Given the description of an element on the screen output the (x, y) to click on. 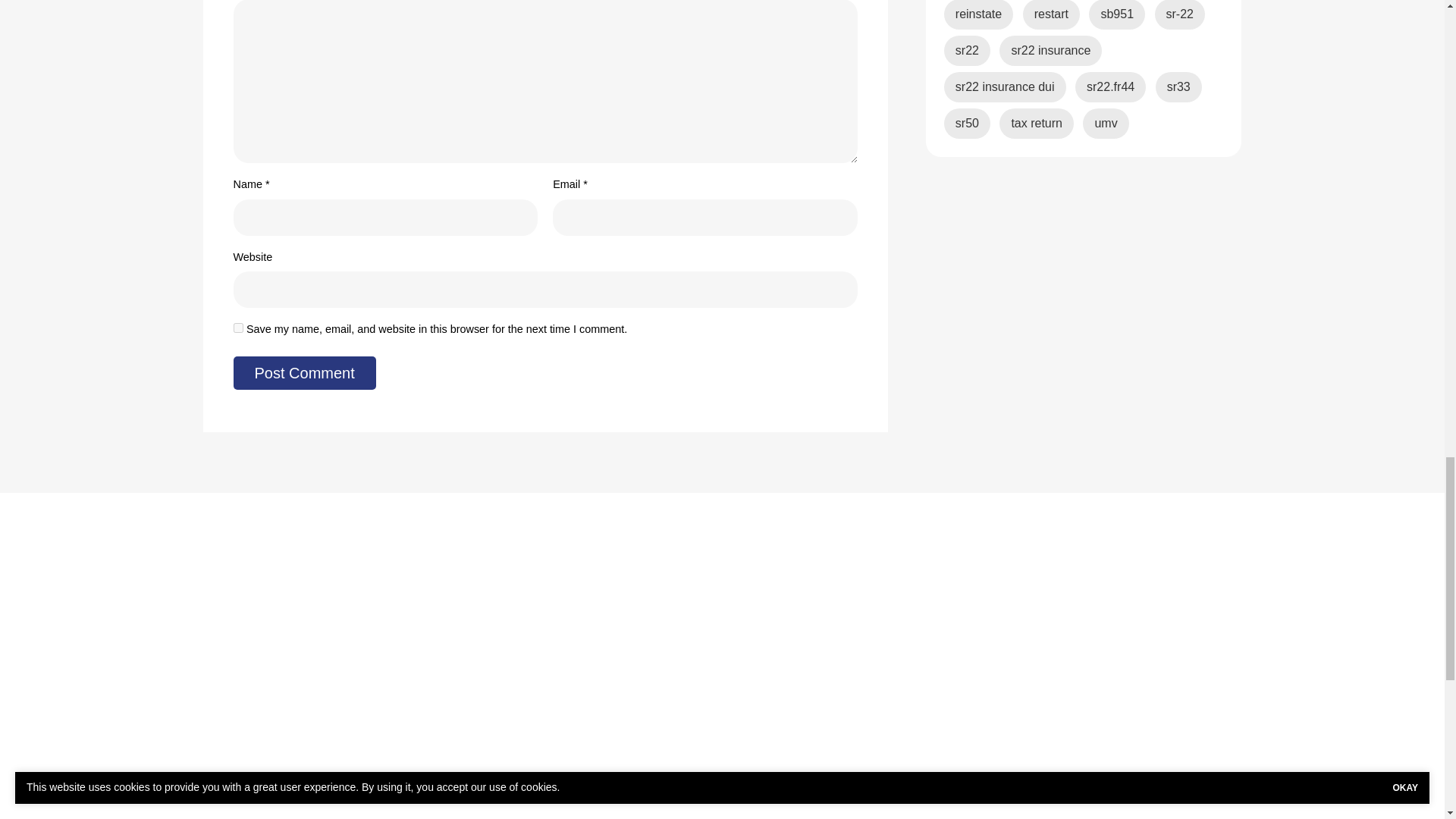
yes (237, 327)
Post Comment (303, 372)
